Given the description of an element on the screen output the (x, y) to click on. 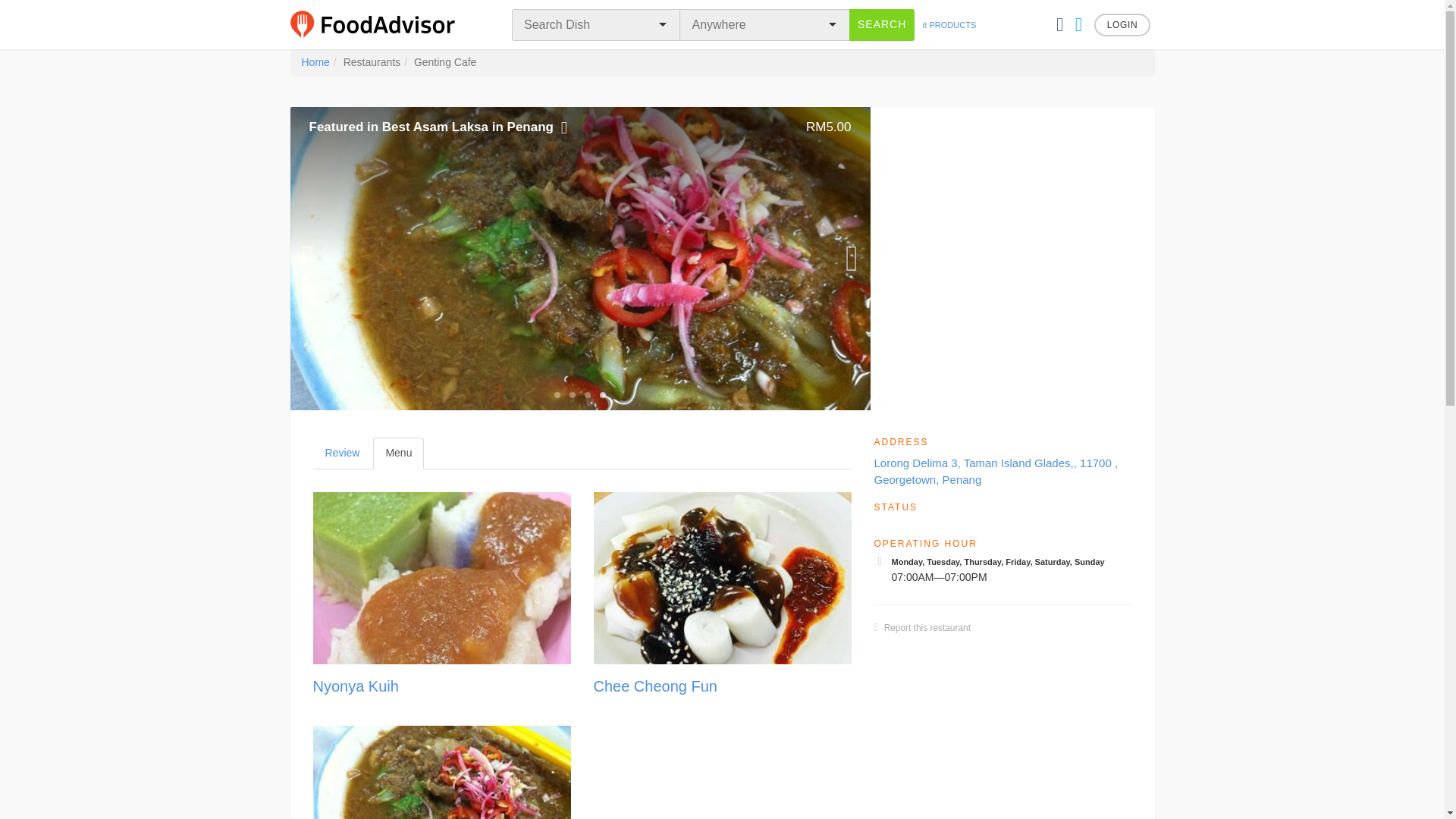
Nyonya Kuih (355, 686)
Review (342, 453)
Home (315, 61)
LOGIN (1122, 24)
SEARCH (881, 24)
1 (397, 453)
4 (557, 394)
2 (602, 394)
Chee Cheong Fun (571, 394)
3 (654, 686)
Foodadvisor.my (587, 394)
PRODUCTS (381, 24)
